Given the description of an element on the screen output the (x, y) to click on. 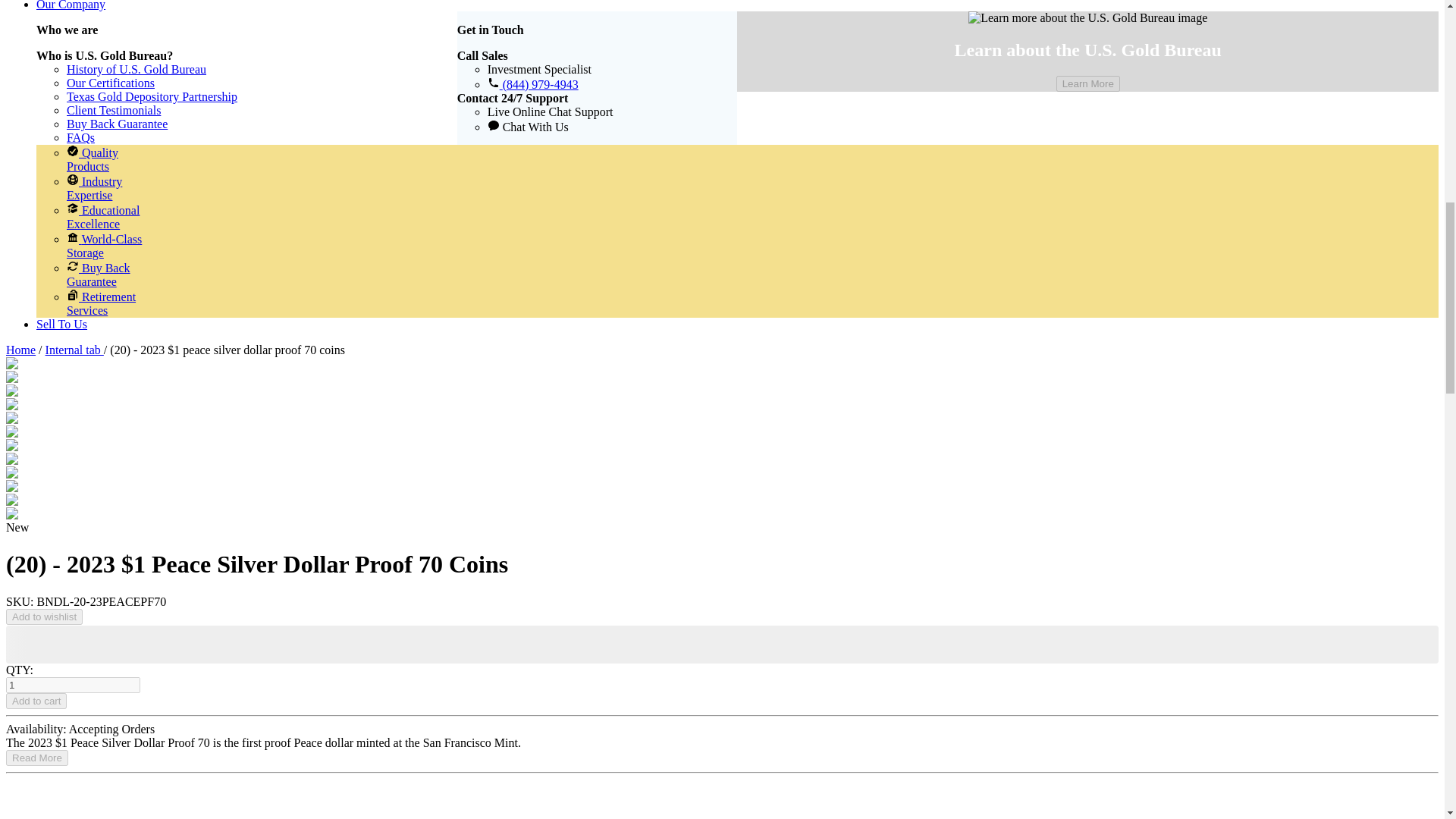
1 (72, 684)
